Given the description of an element on the screen output the (x, y) to click on. 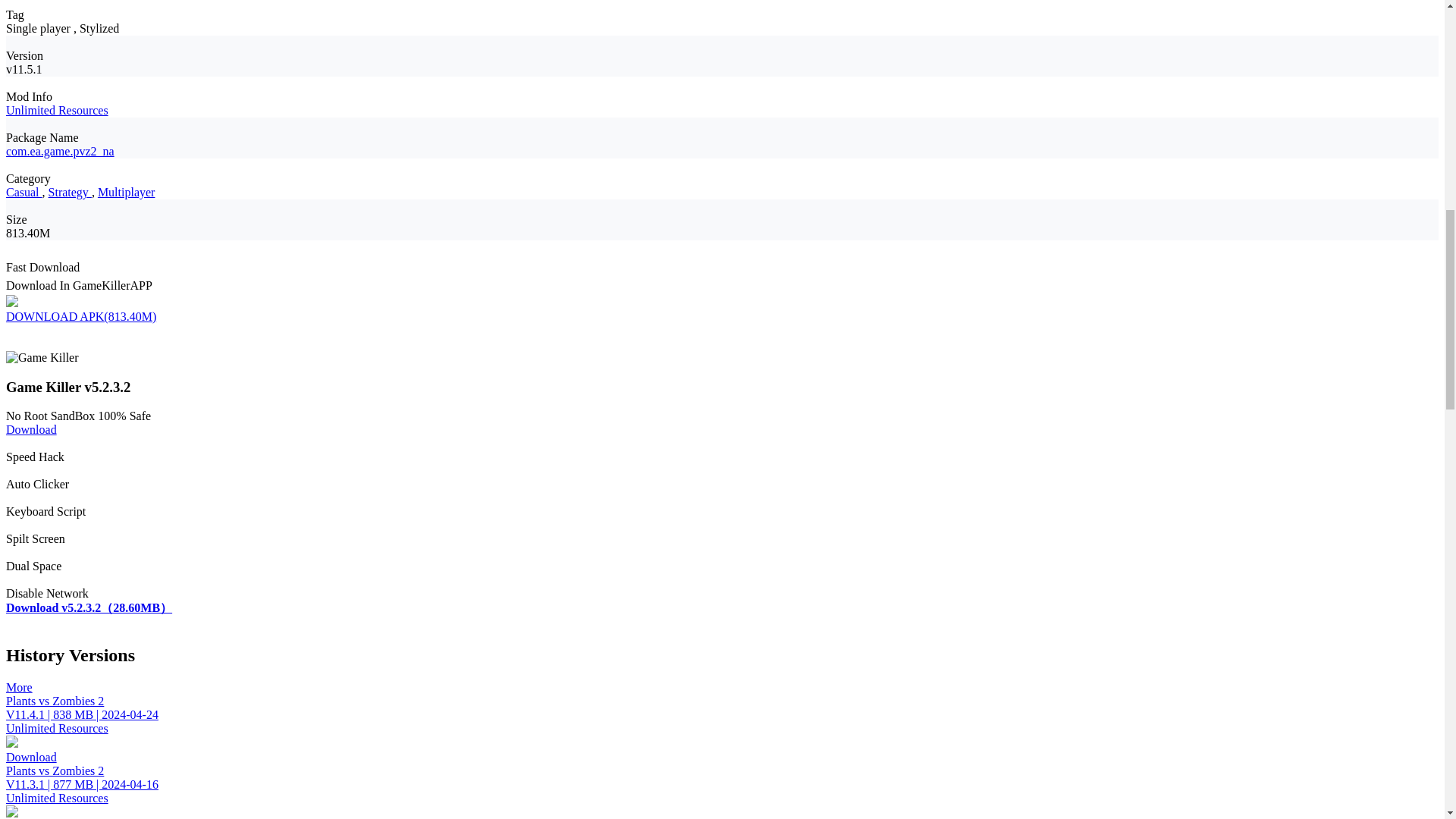
Single player (39, 28)
Unlimited Resources (56, 110)
Stylized (99, 28)
Multiplayer (126, 192)
Casual (23, 192)
Strategy (69, 192)
